Given the description of an element on the screen output the (x, y) to click on. 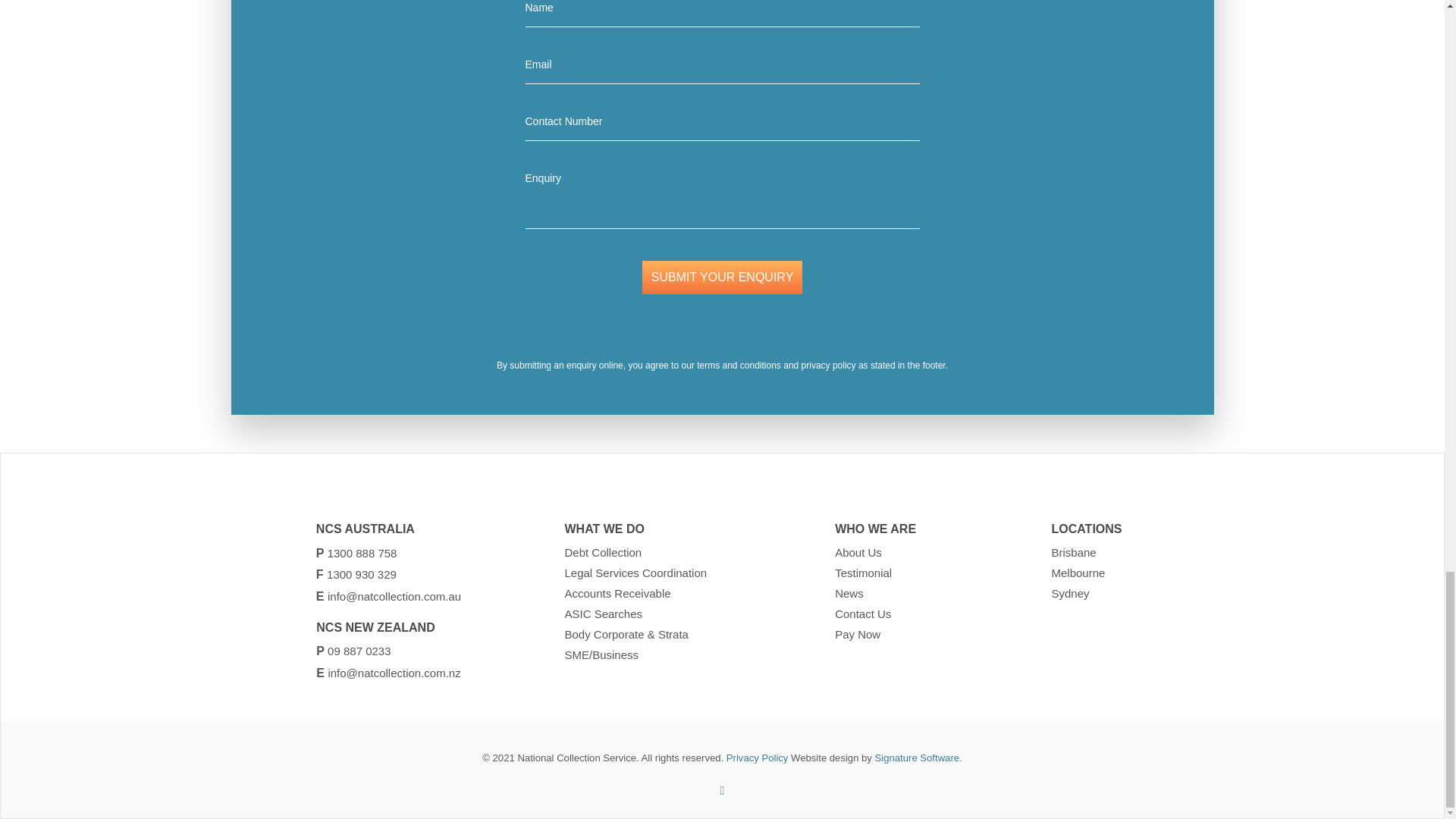
1300 888 758 (362, 552)
Submit your Enquiry (722, 277)
Submit your Enquiry (722, 277)
